Given the description of an element on the screen output the (x, y) to click on. 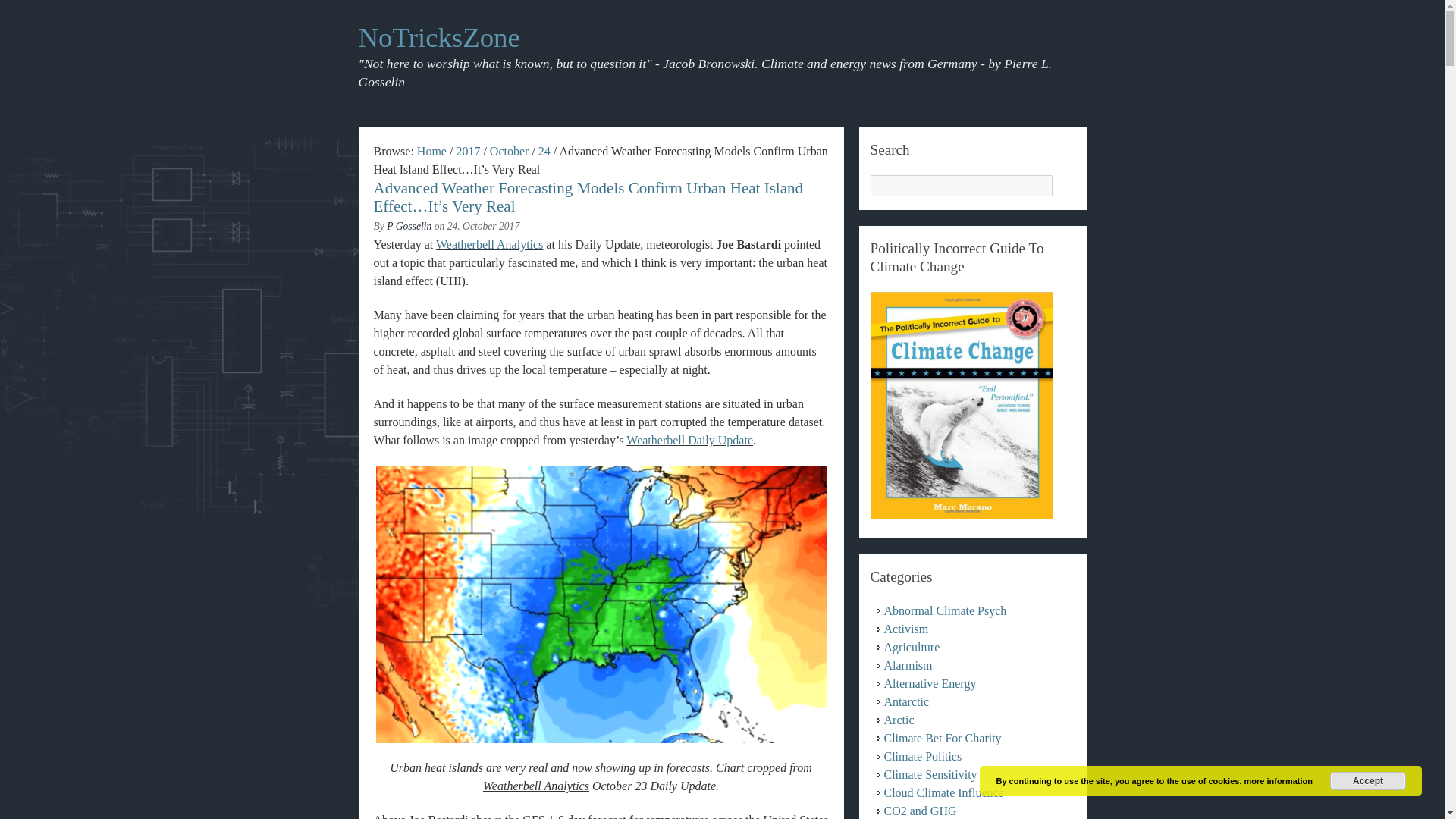
NoTricksZone (431, 151)
P Gosselin (408, 225)
Arctic (898, 719)
2017 (467, 151)
October 2017 (509, 151)
24 (544, 151)
Weatherbell Daily Update (689, 440)
Home (431, 151)
NoTricksZone (438, 37)
October 24, 2017 (544, 151)
